Given the description of an element on the screen output the (x, y) to click on. 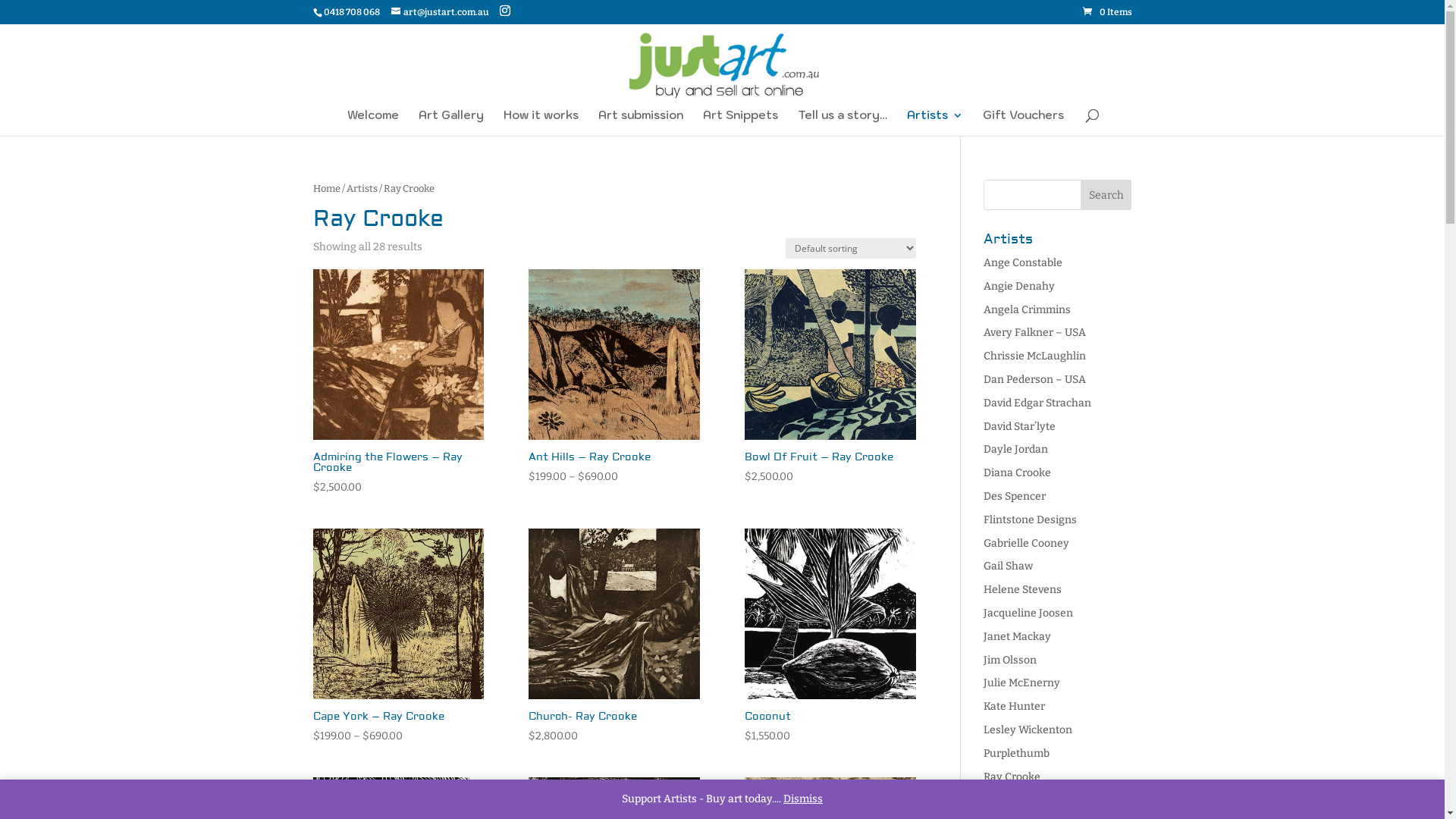
Art Snippets Element type: text (740, 122)
Gail Shaw Element type: text (1007, 565)
Ray Crooke Element type: text (1011, 776)
How it works Element type: text (540, 122)
Angela Crimmins Element type: text (1026, 309)
Home Element type: text (325, 188)
Chrissie McLaughlin Element type: text (1034, 355)
Flintstone Designs Element type: text (1029, 519)
Welcome Element type: text (372, 122)
Artists Element type: text (934, 122)
Dayle Jordan Element type: text (1015, 448)
Des Spencer Element type: text (1014, 495)
Julie McEnerny Element type: text (1021, 682)
Purplethumb Element type: text (1016, 752)
Search Element type: text (1106, 194)
Jacqueline Joosen Element type: text (1028, 612)
Church- Ray Crooke
$2,800.00 Element type: text (613, 636)
Ange Constable Element type: text (1022, 262)
Gift Vouchers Element type: text (1022, 122)
Lesley Wickenton Element type: text (1027, 729)
Art Gallery Element type: text (450, 122)
Dismiss Element type: text (802, 798)
Artists Element type: text (360, 188)
art@justart.com.au Element type: text (440, 11)
Jim Olsson Element type: text (1009, 659)
Coconut
$1,550.00 Element type: text (829, 636)
0 Items Element type: text (1107, 11)
David Edgar Strachan Element type: text (1037, 402)
Gabrielle Cooney Element type: text (1026, 542)
Helene Stevens Element type: text (1022, 589)
Rod Sherlock Element type: text (1015, 799)
Kate Hunter Element type: text (1013, 705)
Janet Mackay Element type: text (1017, 636)
Angie Denahy Element type: text (1018, 285)
Diana Crooke Element type: text (1017, 472)
Art submission Element type: text (640, 122)
